Given the description of an element on the screen output the (x, y) to click on. 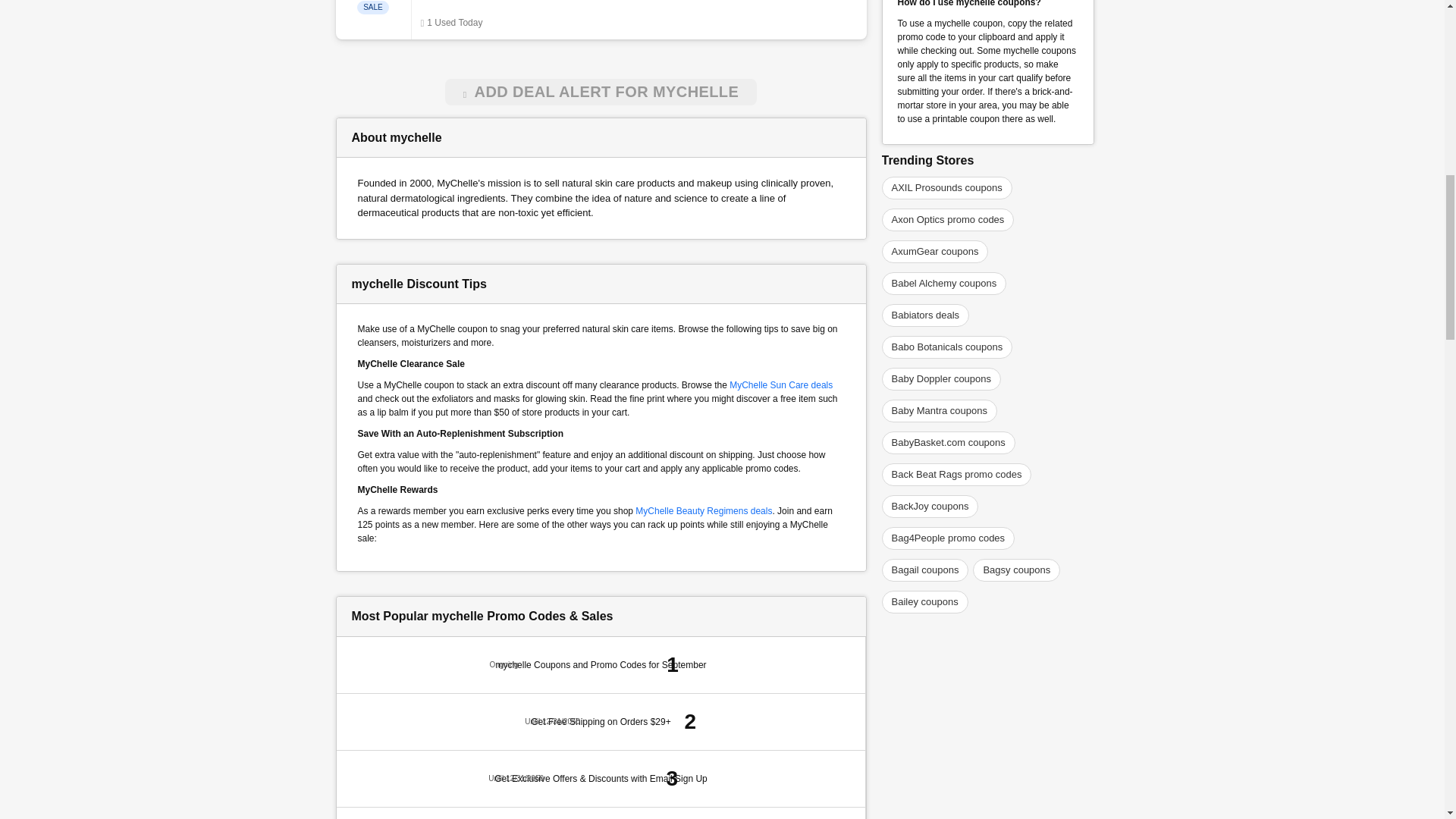
MyChelle Sun Care deals (780, 384)
ADD DEAL ALERT FOR MYCHELLE (601, 91)
MyChelle Beauty Regimens deals (702, 510)
